Given the description of an element on the screen output the (x, y) to click on. 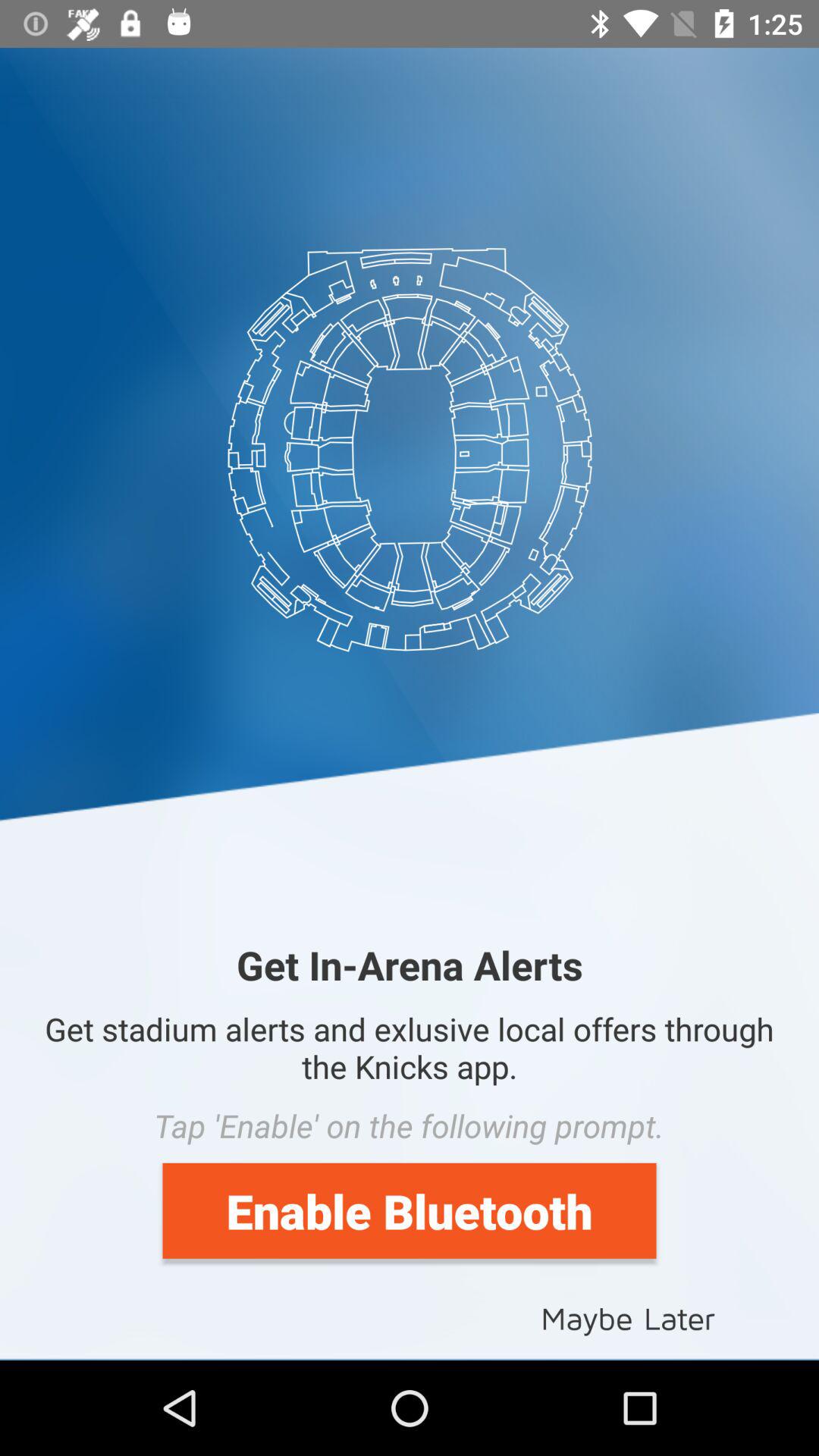
choose the maybe later at the bottom right corner (627, 1317)
